Given the description of an element on the screen output the (x, y) to click on. 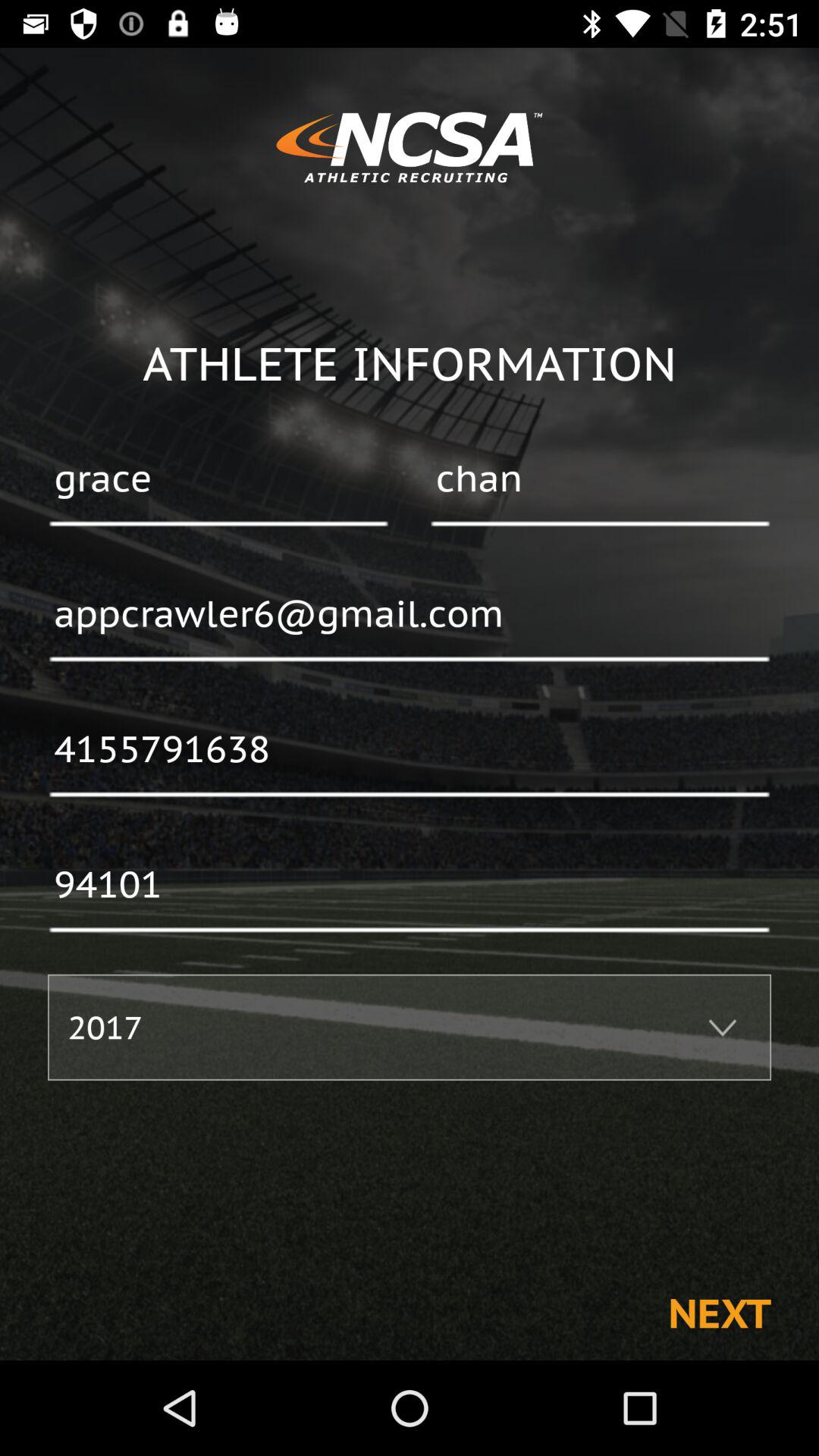
jump to the 4155791638 icon (409, 750)
